Given the description of an element on the screen output the (x, y) to click on. 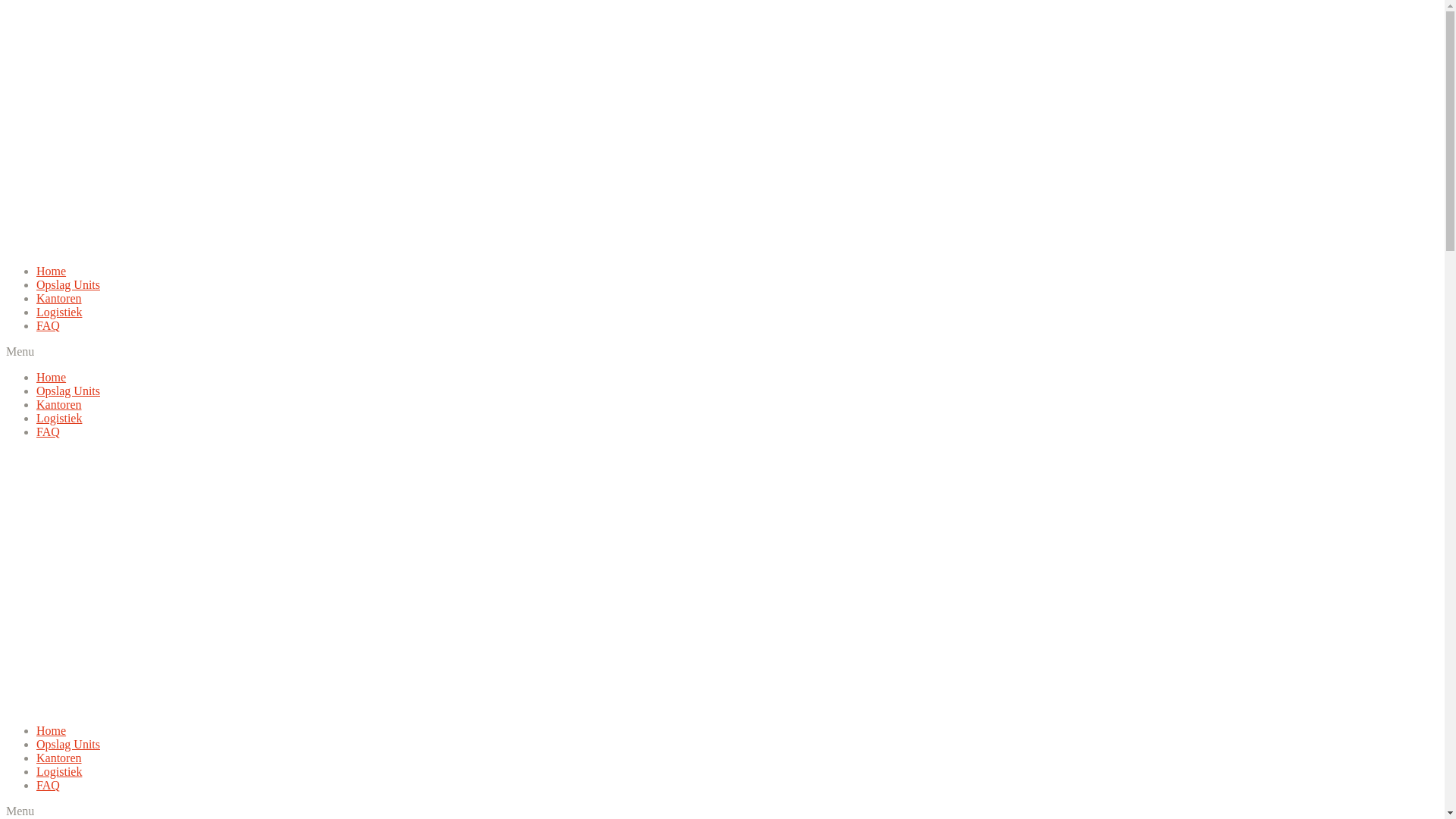
Logistiek Element type: text (58, 311)
Logistiek Element type: text (58, 771)
Opslag Units Element type: text (68, 743)
Logistiek Element type: text (58, 417)
Opslag Units Element type: text (68, 284)
FAQ Element type: text (47, 325)
Kantoren Element type: text (58, 404)
Home Element type: text (50, 270)
Contacteer ons Element type: text (71, 458)
Kantoren Element type: text (58, 757)
Kantoren Element type: text (58, 297)
Home Element type: text (50, 730)
Opslag Units Element type: text (68, 390)
FAQ Element type: text (47, 784)
Home Element type: text (50, 376)
FAQ Element type: text (47, 431)
